Given the description of an element on the screen output the (x, y) to click on. 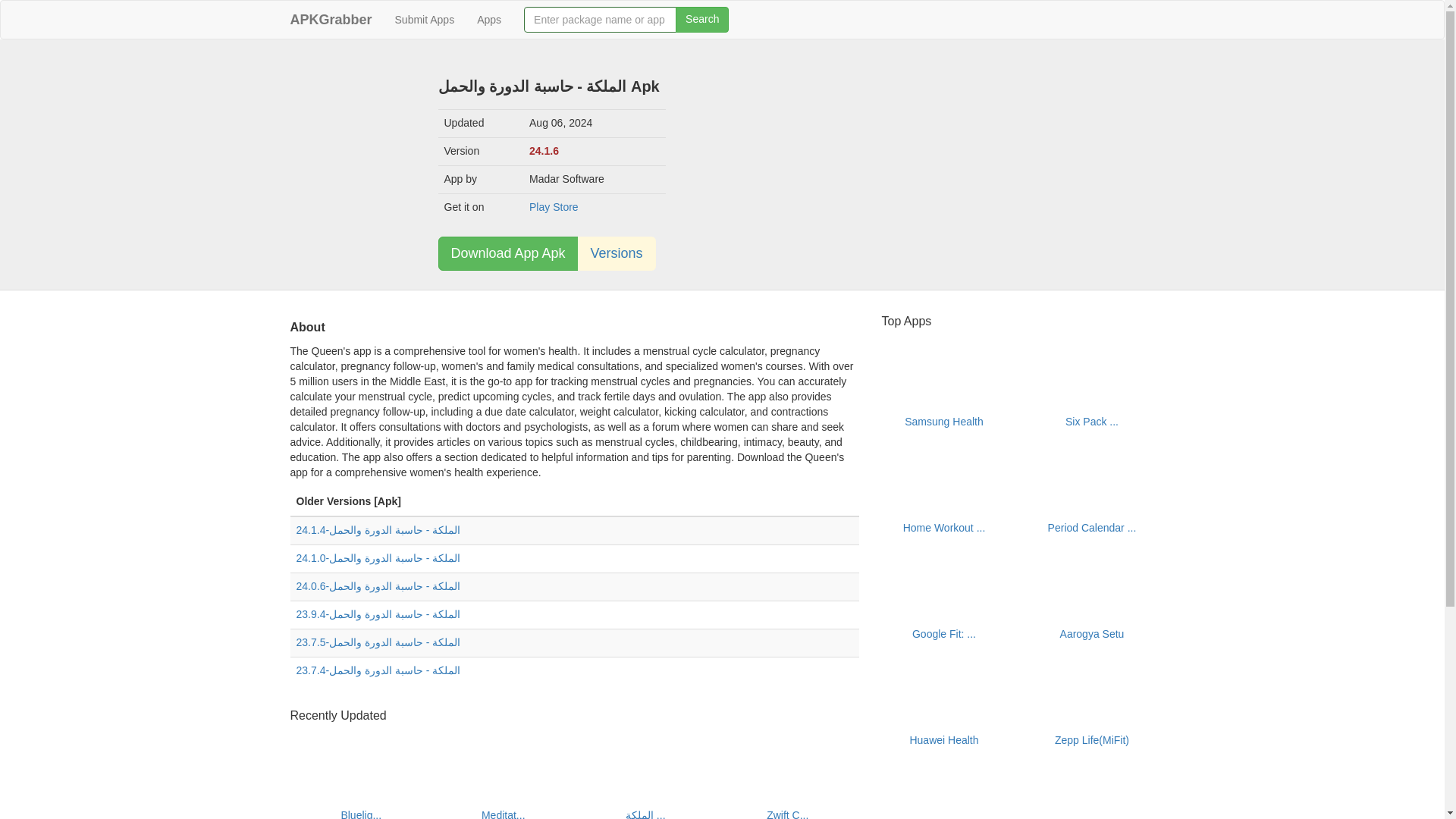
Submit Apps (424, 19)
Meditat... (503, 814)
Download App Apk (508, 253)
Bluelig... (360, 814)
Meditation Music - Relax, Yoga apk for android (503, 761)
Meditation Music - Relax, Yoga apk for android (503, 814)
Zwift C... (787, 814)
Bluelight Filter - Eye Care apk for android (360, 761)
APKGrabber (331, 19)
Zwift Companion apk for android (787, 761)
